Given the description of an element on the screen output the (x, y) to click on. 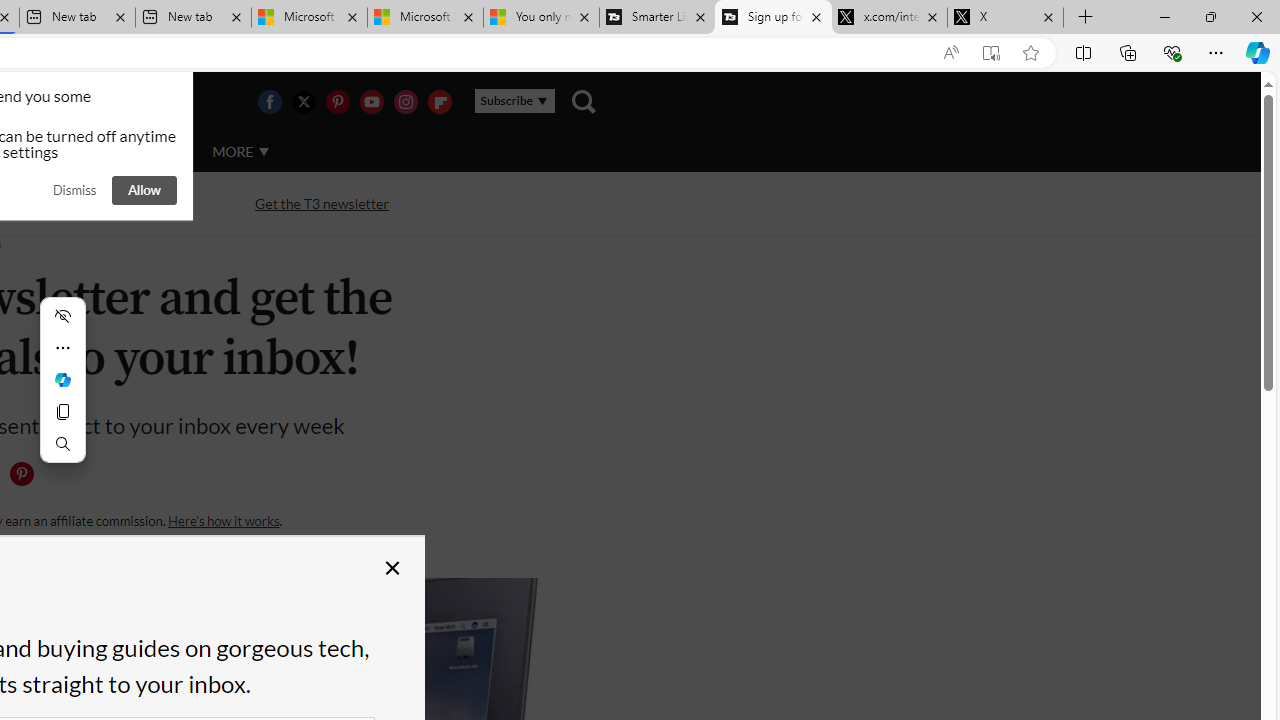
AUTO (153, 151)
Add this page to favorites (Ctrl+D) (1030, 53)
Visit us on Flipboard (439, 101)
Visit us on Twitter (303, 101)
Ask Copilot (62, 380)
New tab (192, 17)
Enter Immersive Reader (F9) (991, 53)
Read aloud this page (Ctrl+Shift+U) (950, 53)
Collections (1128, 52)
Get the T3 newsletter (322, 202)
Class: navigation__search (583, 101)
Get the T3 newsletter (322, 204)
Split screen (1083, 52)
Class: social__item (25, 477)
Class: icon-svg (21, 474)
